Given the description of an element on the screen output the (x, y) to click on. 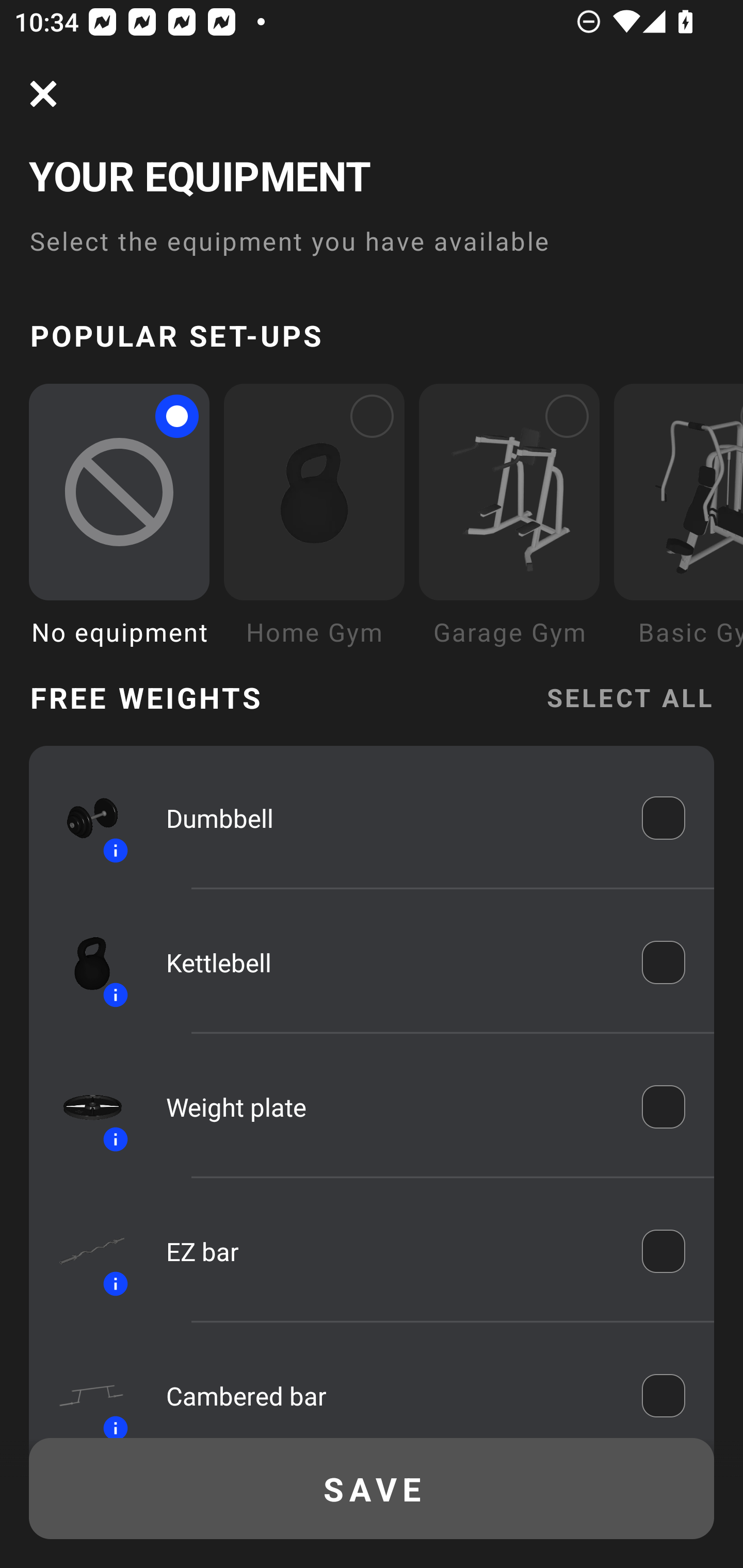
Navigation icon (43, 93)
SELECT ALL (629, 696)
Equipment icon Information icon (82, 817)
Dumbbell (389, 817)
Equipment icon Information icon (82, 961)
Kettlebell (389, 961)
Equipment icon Information icon (82, 1106)
Weight plate (389, 1106)
Equipment icon Information icon (82, 1251)
EZ bar (389, 1251)
Equipment icon Information icon (82, 1389)
Cambered bar (389, 1394)
SAVE (371, 1488)
